Given the description of an element on the screen output the (x, y) to click on. 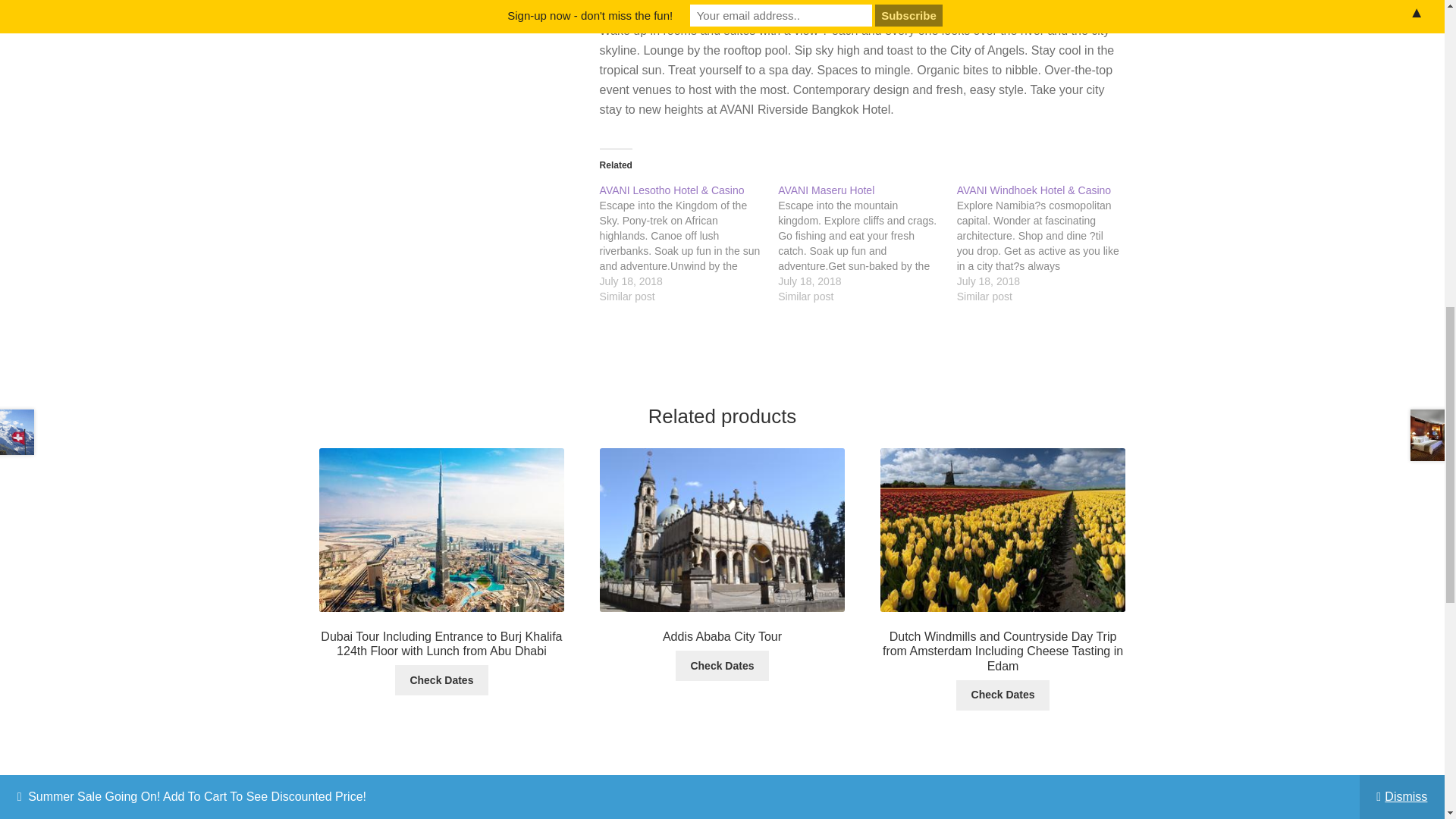
Addis Ababa City Tour (722, 665)
AVANI Maseru Hotel (826, 190)
AVANI Maseru Hotel (866, 242)
